Given the description of an element on the screen output the (x, y) to click on. 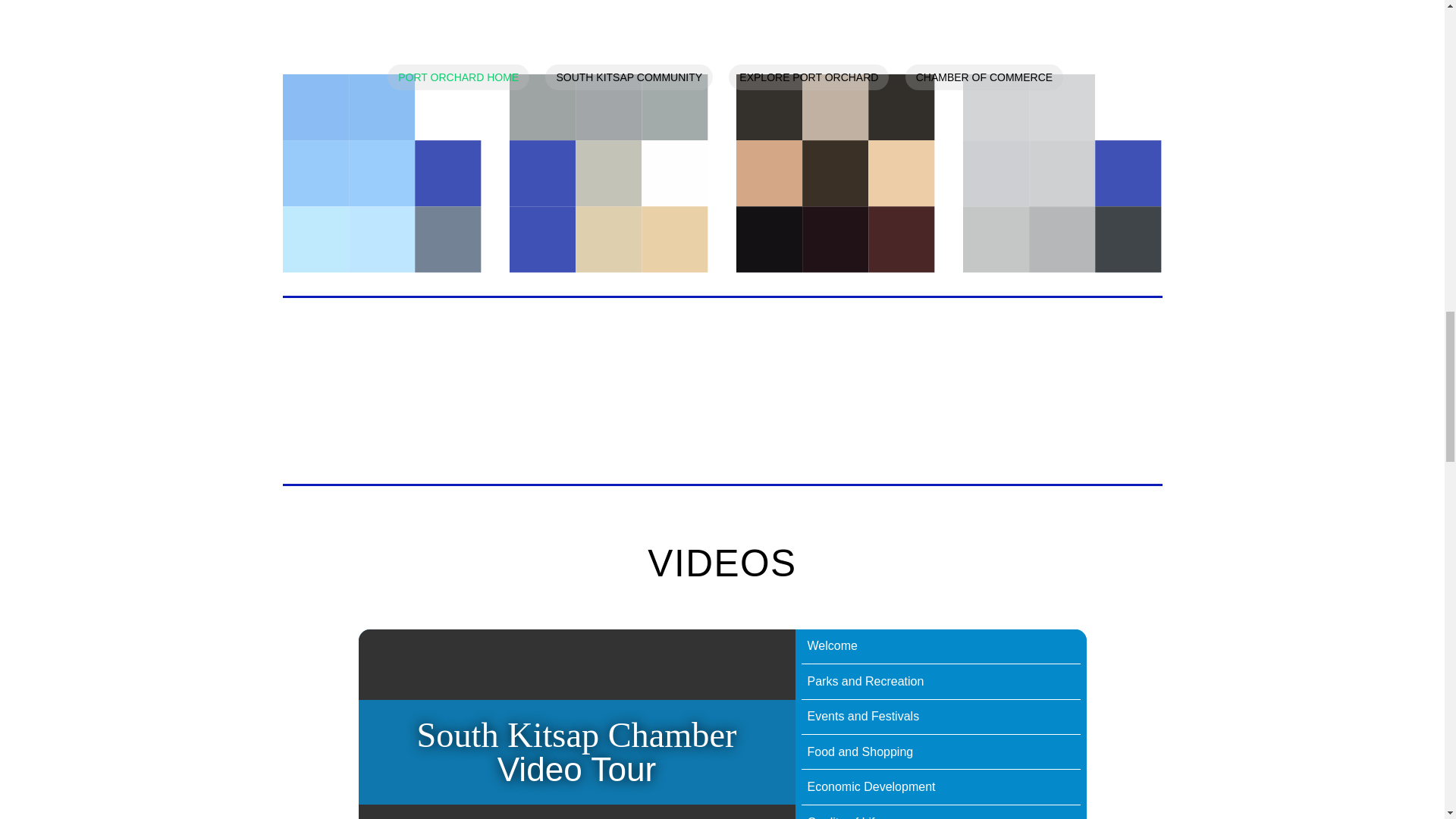
Port Orchard Positive (835, 173)
Rediscover Kitsap County Facebook Page (608, 173)
South Kitsap Chamber of Commerce Facebook Page (381, 173)
Explore Port Orchard (1061, 173)
